Given the description of an element on the screen output the (x, y) to click on. 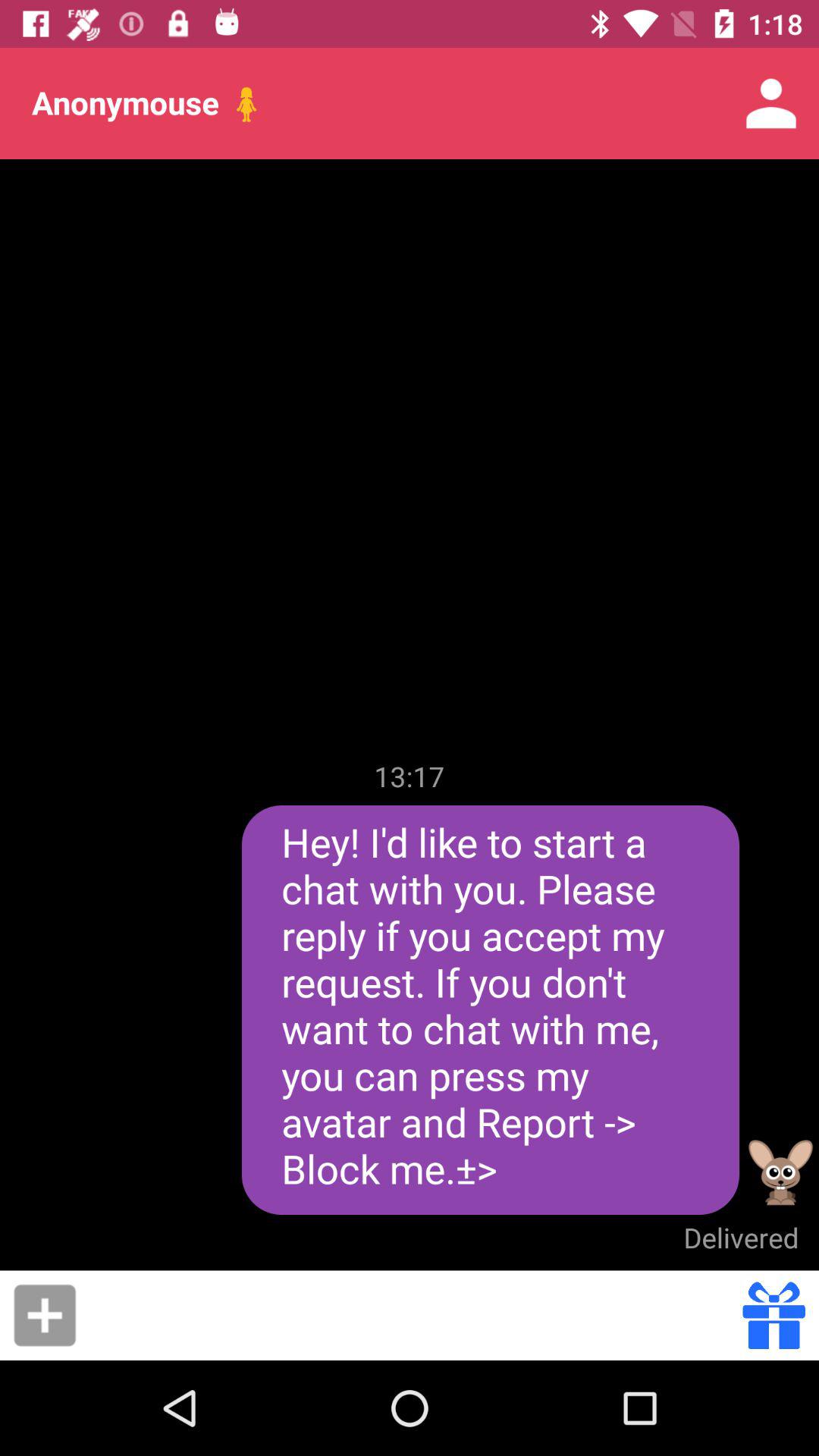
add message (44, 1315)
